Given the description of an element on the screen output the (x, y) to click on. 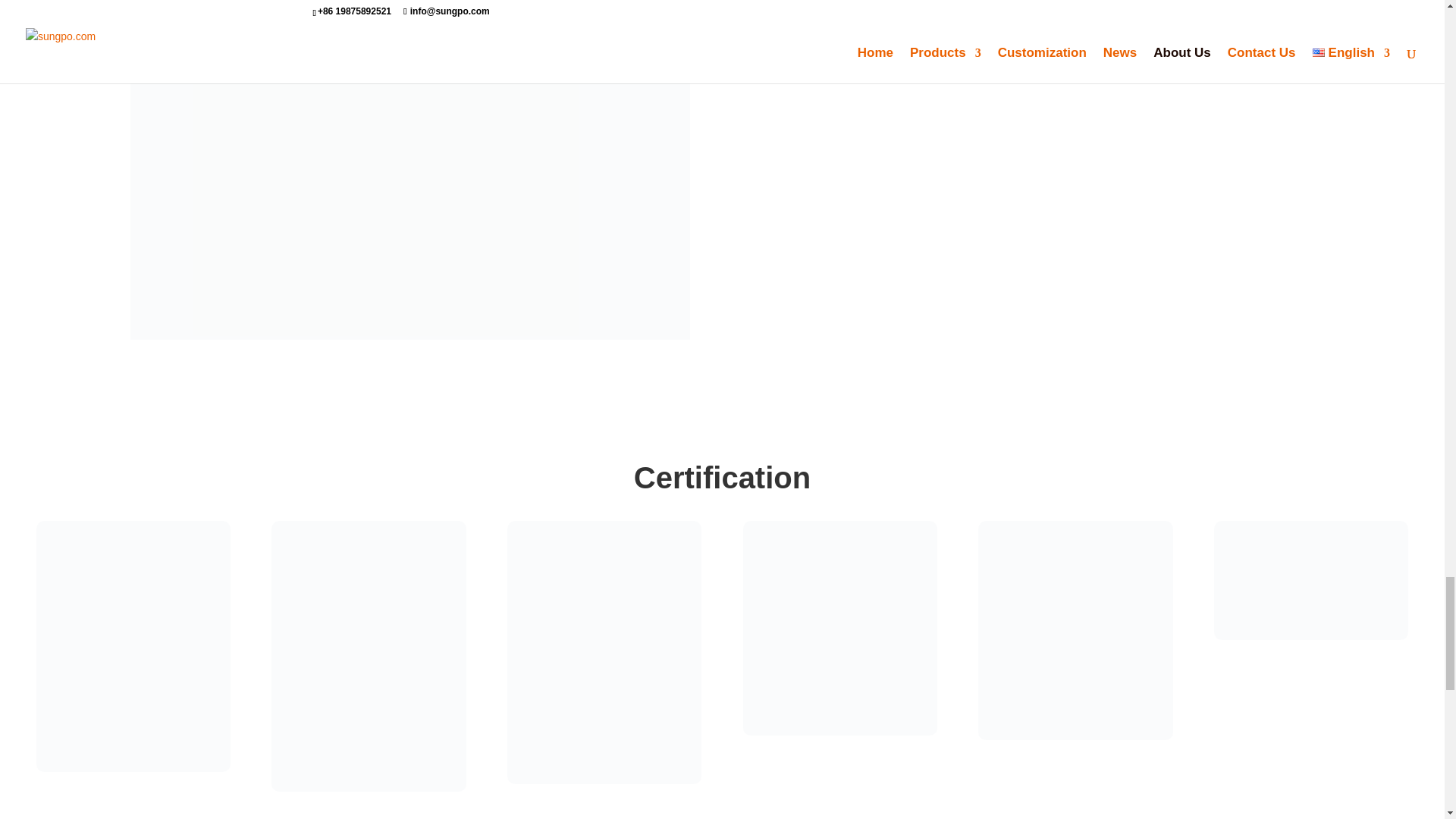
SGS (839, 628)
